Given the description of an element on the screen output the (x, y) to click on. 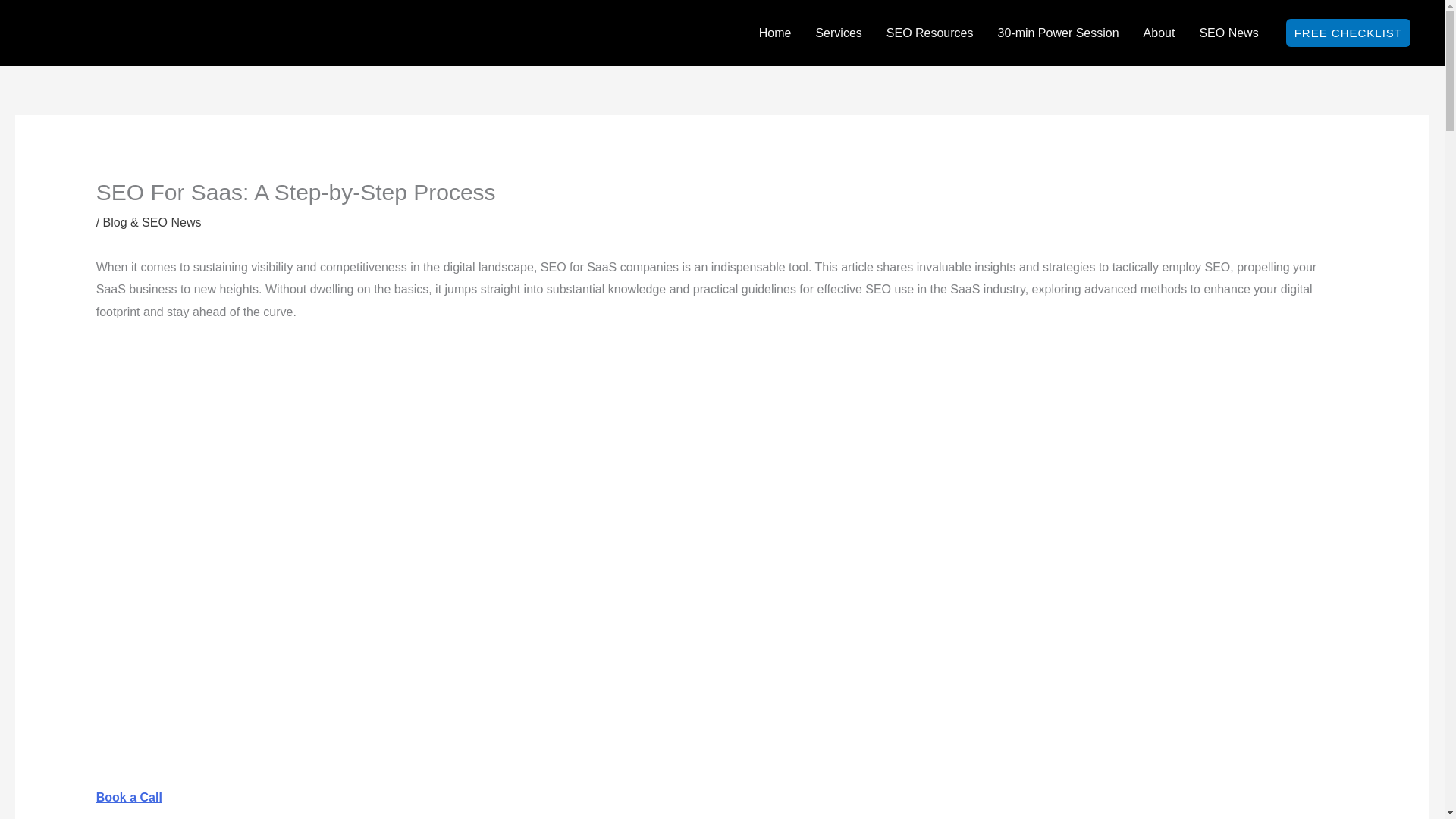
FREE CHECKLIST (1347, 32)
See the Book a Call in detail. (128, 797)
Home (774, 32)
SEO News (1227, 32)
SEO Resources (930, 32)
About (1159, 32)
Services (838, 32)
30-min Power Session (1058, 32)
Book a Call (128, 797)
